Given the description of an element on the screen output the (x, y) to click on. 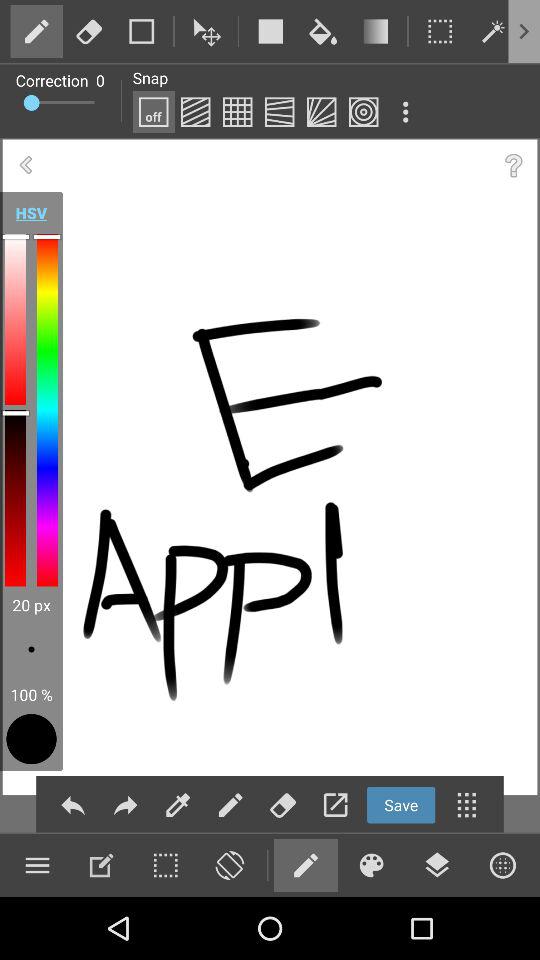
zoom (229, 865)
